Given the description of an element on the screen output the (x, y) to click on. 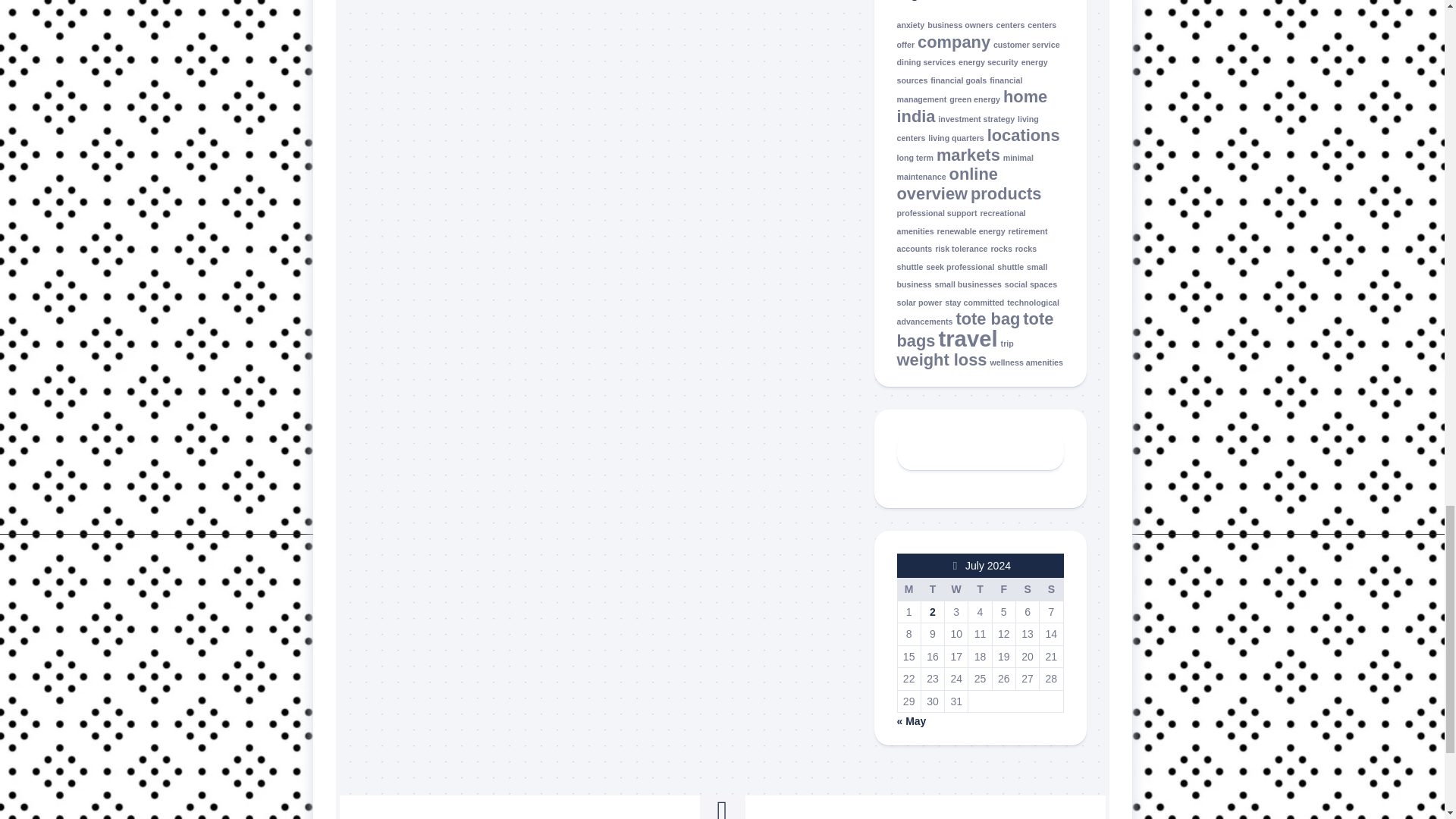
Tuesday (931, 589)
Saturday (1026, 589)
Wednesday (956, 589)
Thursday (979, 589)
Monday (908, 589)
Friday (1002, 589)
Sunday (1050, 589)
